Given the description of an element on the screen output the (x, y) to click on. 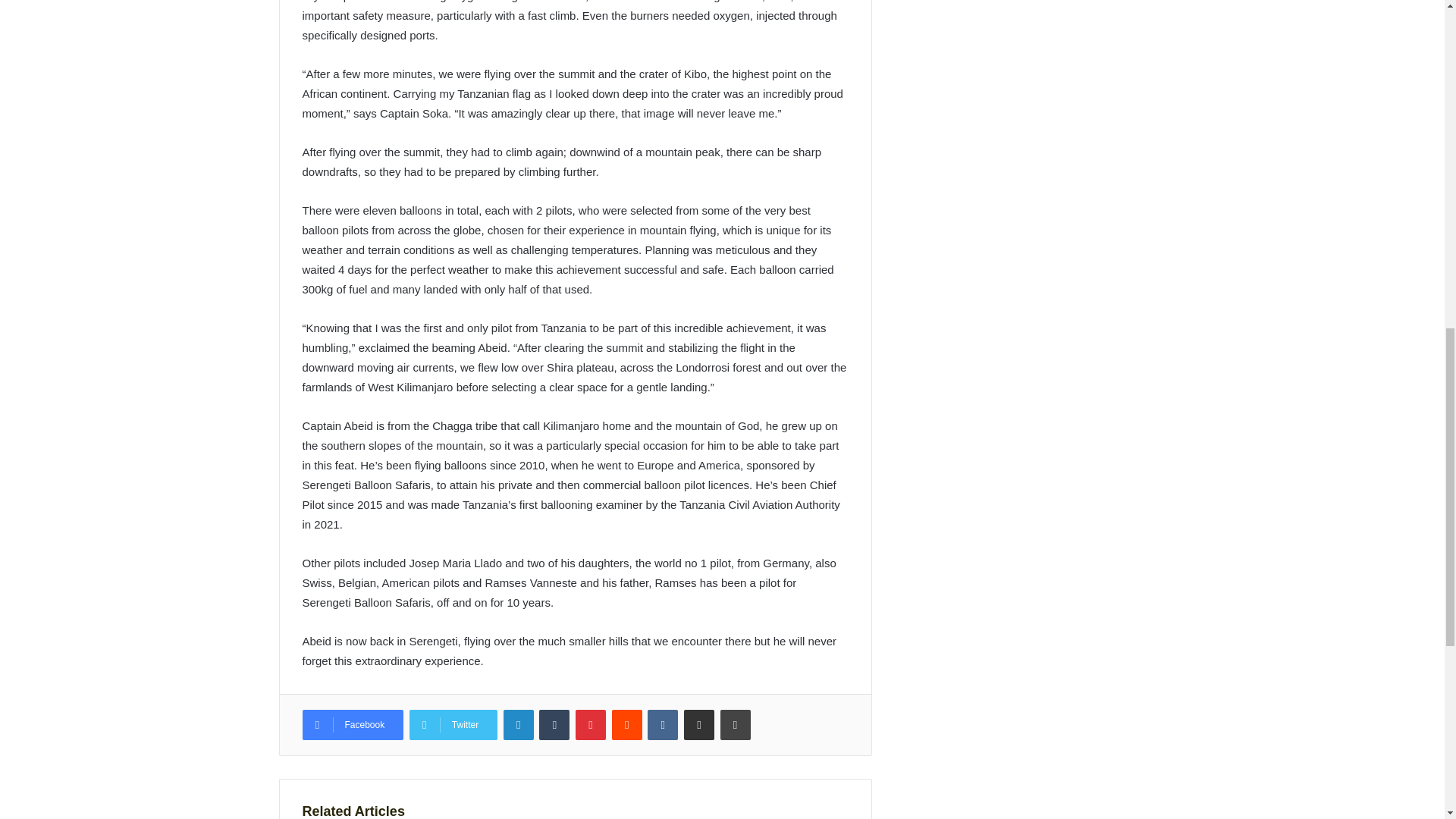
Pinterest (590, 725)
Print (735, 725)
LinkedIn (518, 725)
Twitter (453, 725)
Share via Email (699, 725)
Reddit (626, 725)
VKontakte (662, 725)
Tumblr (553, 725)
Facebook (352, 725)
